Given the description of an element on the screen output the (x, y) to click on. 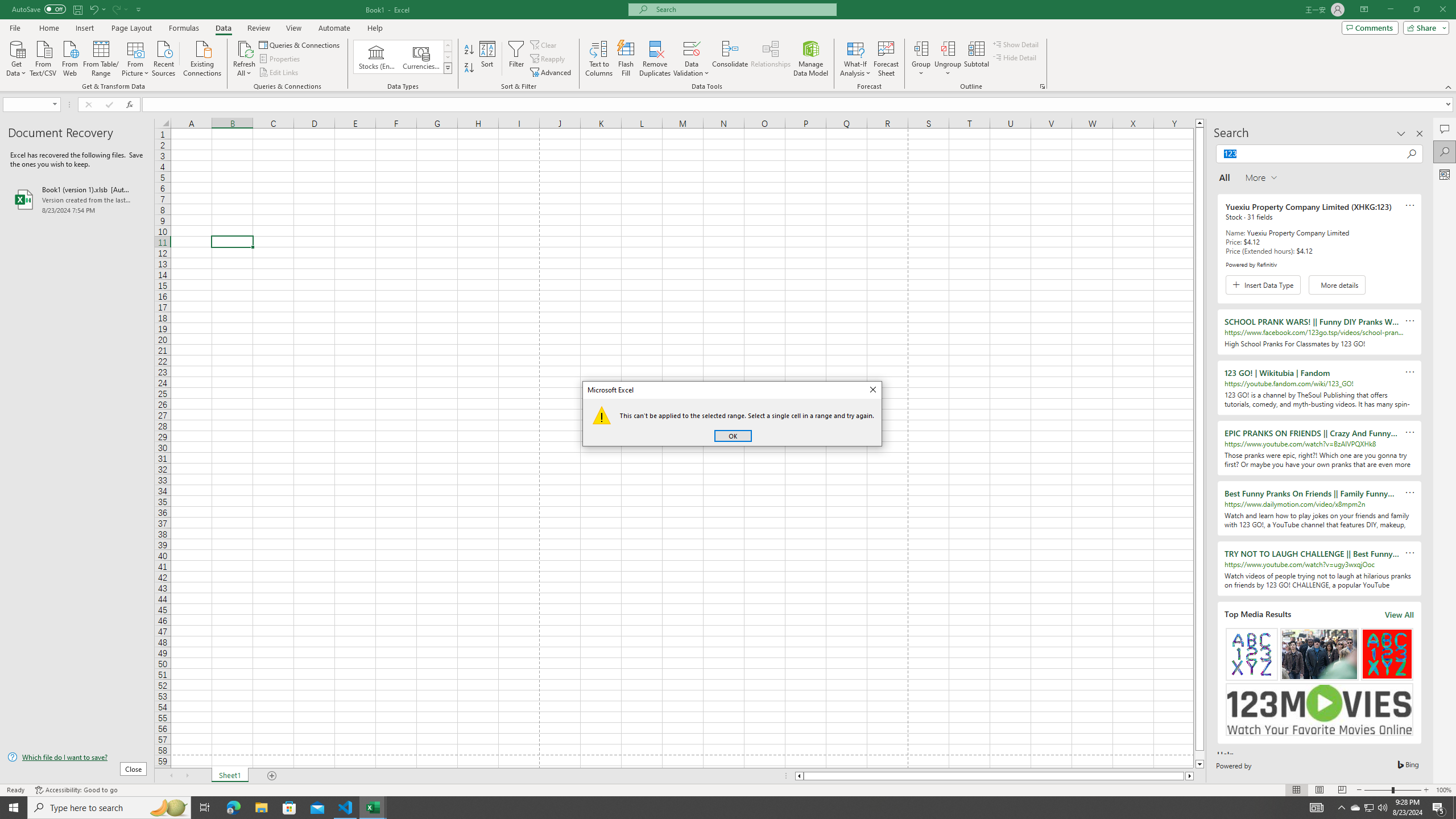
Restore Down (1416, 9)
Q2790: 100% (1382, 807)
Task Pane Options (1400, 133)
Filter (515, 58)
Running applications (717, 807)
Show Detail (1016, 44)
Row up (448, 45)
Action Center, 5 new notifications (1439, 807)
From Table/Range (100, 57)
From Web (69, 57)
